Given the description of an element on the screen output the (x, y) to click on. 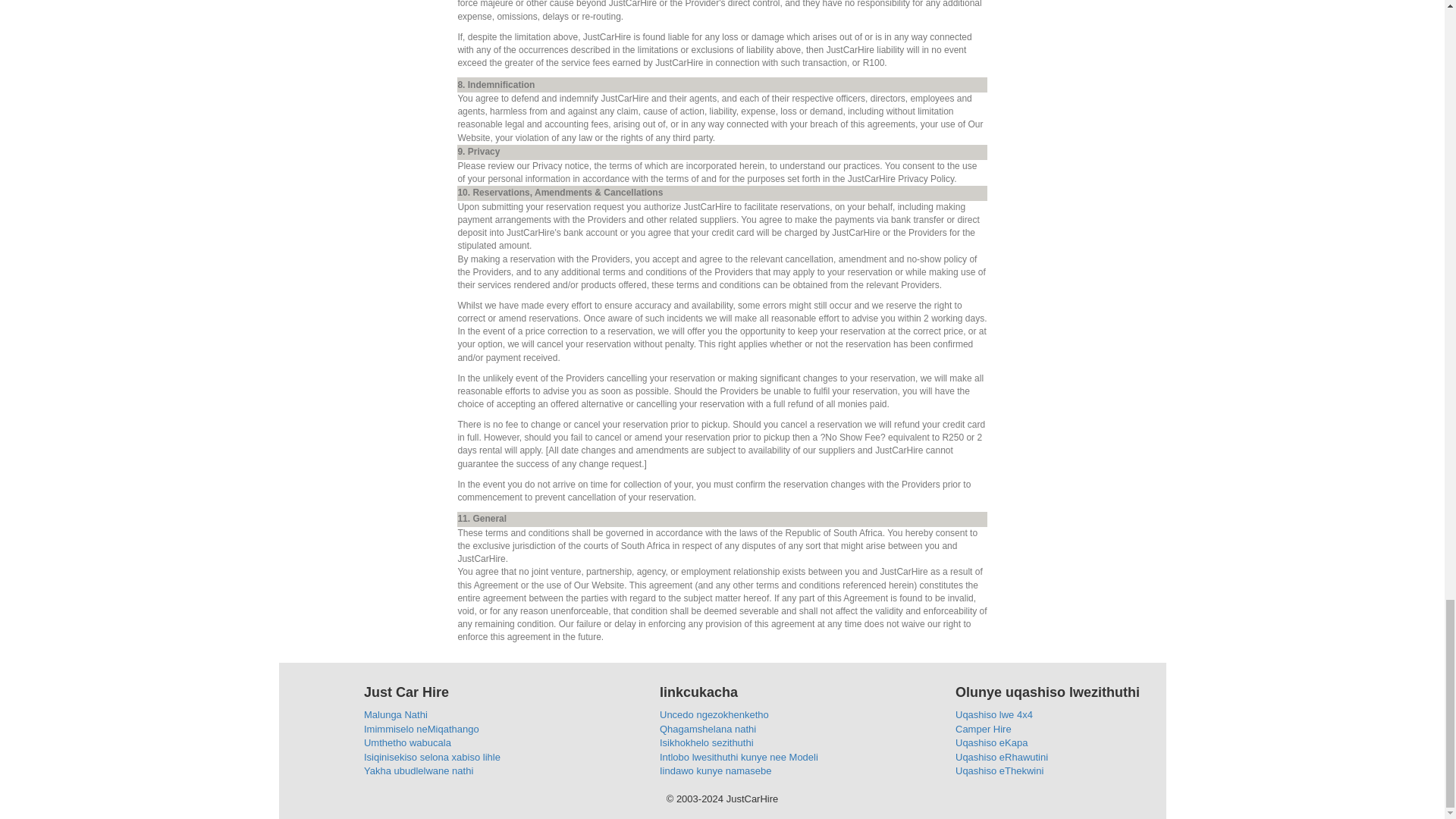
Imimmiselo neMiqathango (421, 728)
Intlobo lwesithuthi kunye nee Modeli (738, 756)
Uqashiso eThekwini (999, 770)
Durban Car Hire (999, 770)
Camper Hire South Africa (983, 728)
Malunga Nathi (396, 714)
Umthetho wabucala (407, 742)
Yakha ubudlelwane nathi (418, 770)
JHB Car Hire (1001, 756)
Uncedo ngezokhenketho (713, 714)
Qhagamshelana nathi (707, 728)
Iindawo kunye namasebe (715, 770)
Uqashiso eRhawutini (1001, 756)
Cape Town Car Hire (991, 742)
Isiqinisekiso selona xabiso lihle (432, 756)
